Given the description of an element on the screen output the (x, y) to click on. 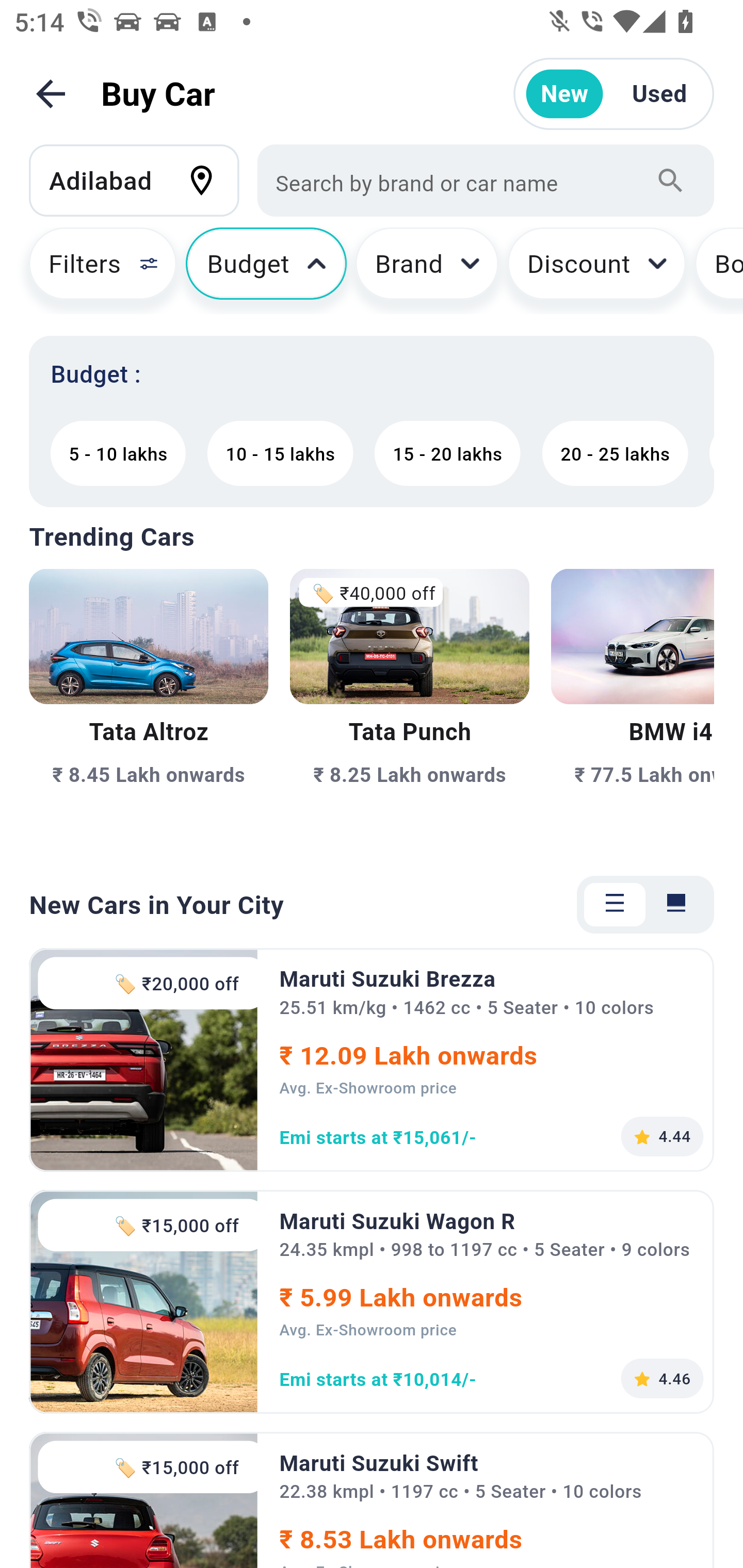
Back (50, 93)
New (564, 93)
Used (659, 93)
Adilabad (142, 180)
Filters (93, 270)
Budget (265, 270)
Brand (427, 270)
Discount (596, 270)
5 - 10 lakhs (117, 453)
10 - 15 lakhs (279, 453)
15 - 20 lakhs (447, 453)
20 - 25 lakhs (615, 453)
₹ 8.45 Lakh onwards Tata Altroz (148, 709)
🏷️ ₹40,000 off
₹ 8.25 Lakh onwards Tata Punch (409, 709)
₹ 77.5 Lakh onwards BMW i4 (632, 709)
Tab 1 of 2 (614, 904)
Tab 2 of 2 (675, 904)
